Given the description of an element on the screen output the (x, y) to click on. 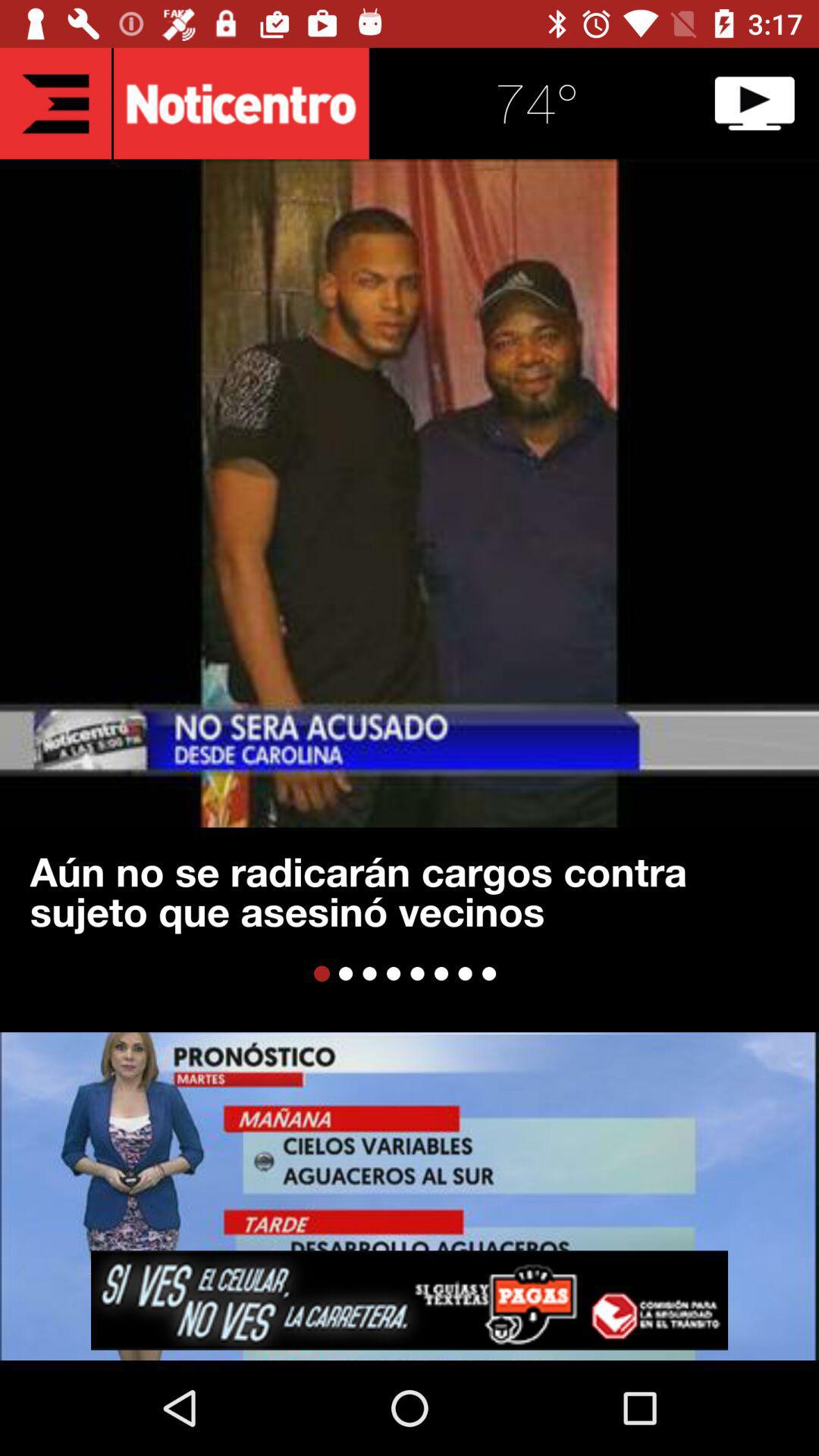
menu option (55, 103)
